Given the description of an element on the screen output the (x, y) to click on. 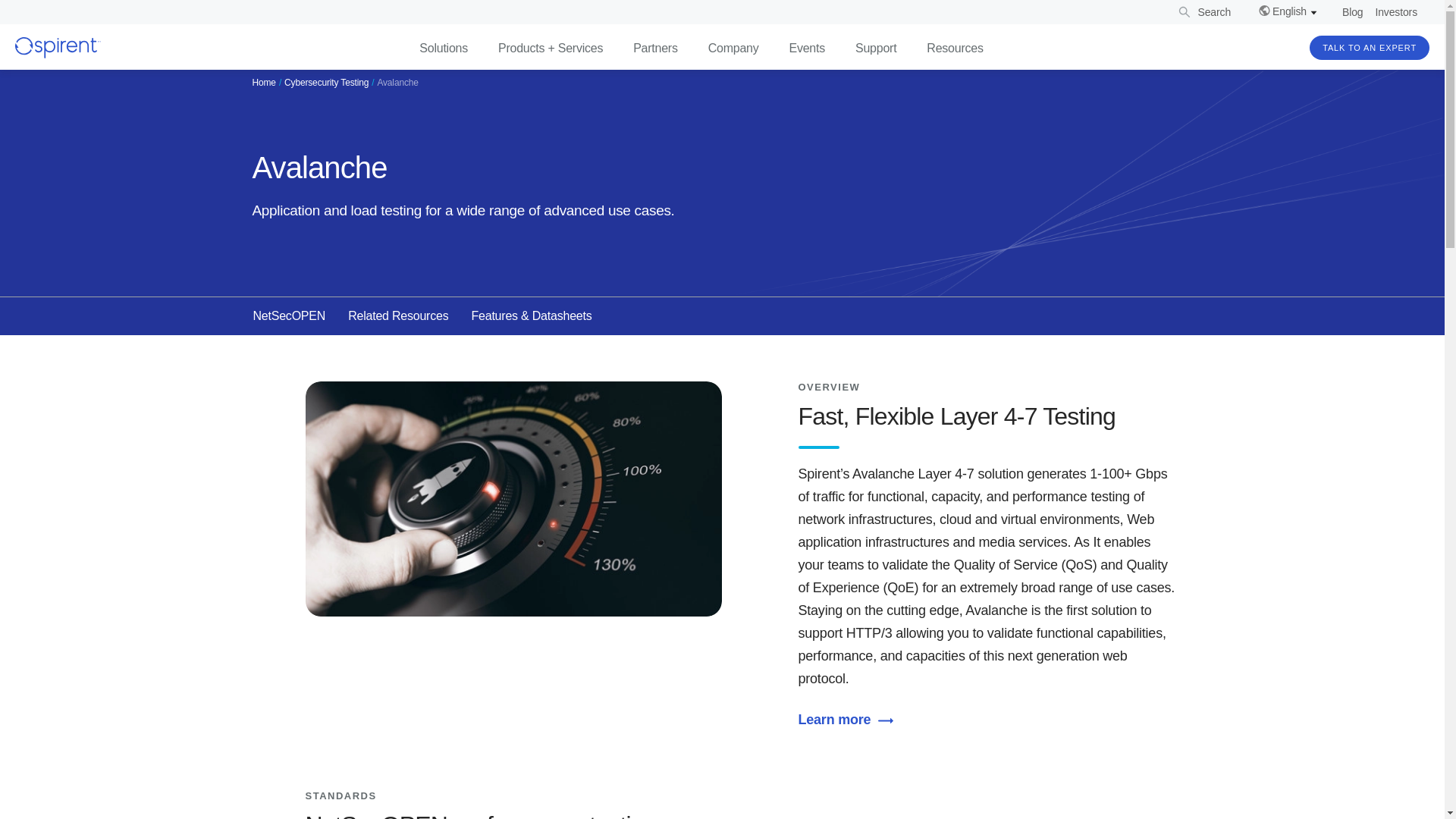
Related Resources (397, 315)
Learn more (849, 719)
Partners (655, 47)
Solutions (443, 47)
Related Resources (397, 315)
Support (876, 47)
English (1288, 11)
Home (263, 81)
TALK TO AN EXPERT (1368, 46)
NetSecOPEN (289, 315)
Search (1202, 12)
Investors (1395, 11)
Resources (954, 47)
Events (807, 47)
Cybersecurity Testing (325, 81)
